Given the description of an element on the screen output the (x, y) to click on. 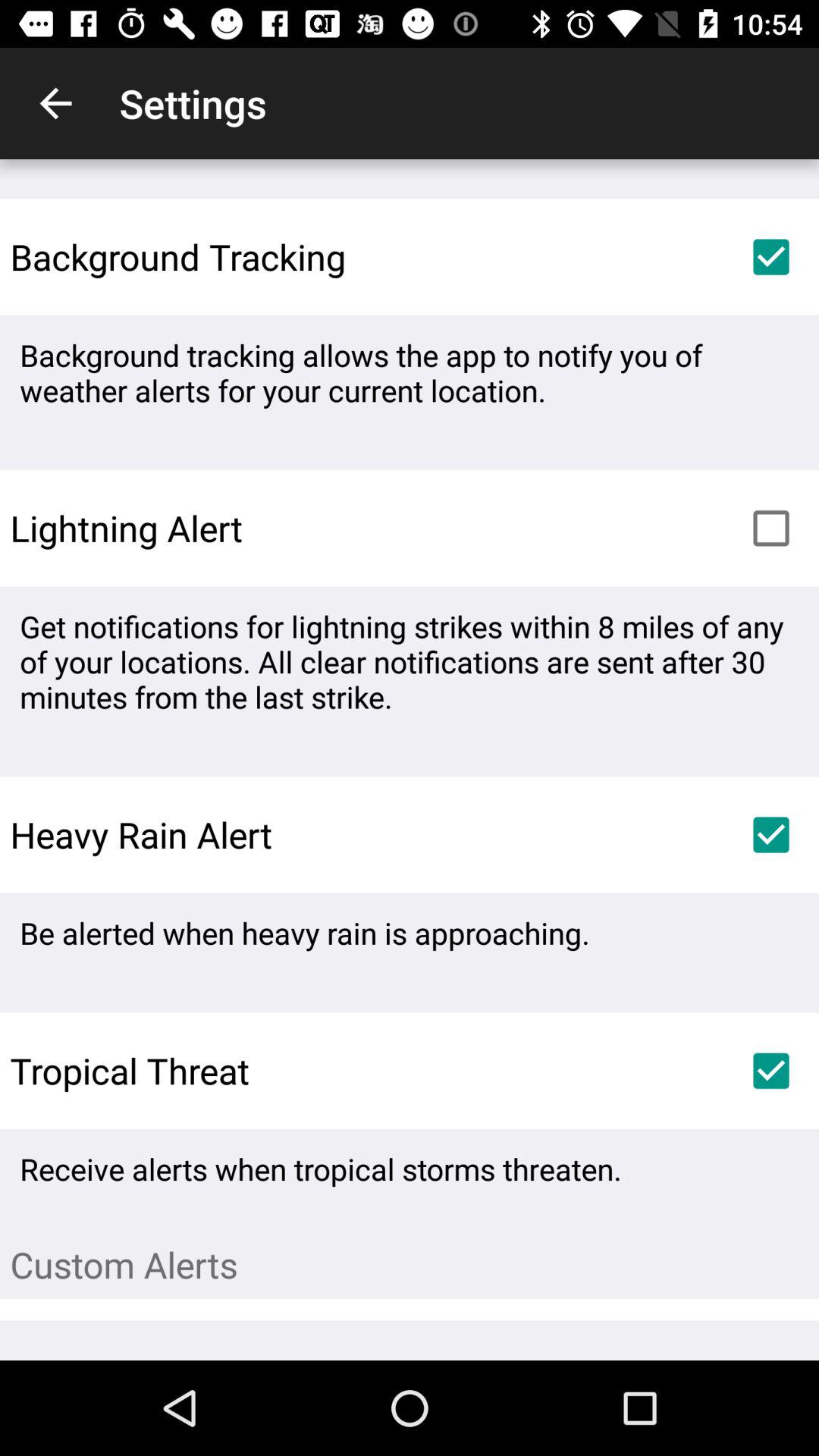
lightning alert notifications (771, 528)
